Given the description of an element on the screen output the (x, y) to click on. 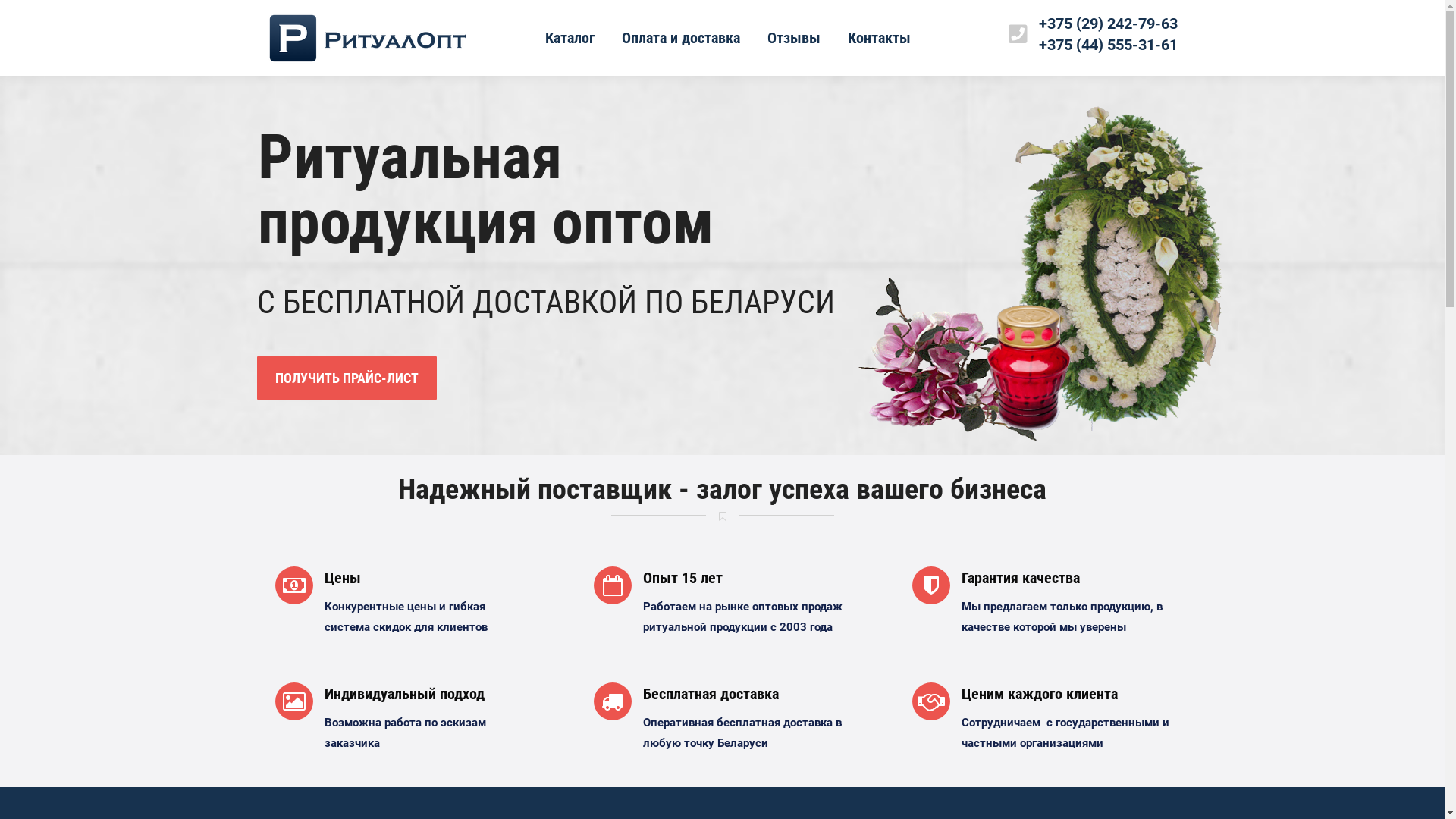
+375 (44) 555-31-61 Element type: text (1107, 44)
+375 (29) 242-79-63 Element type: text (1107, 23)
